Given the description of an element on the screen output the (x, y) to click on. 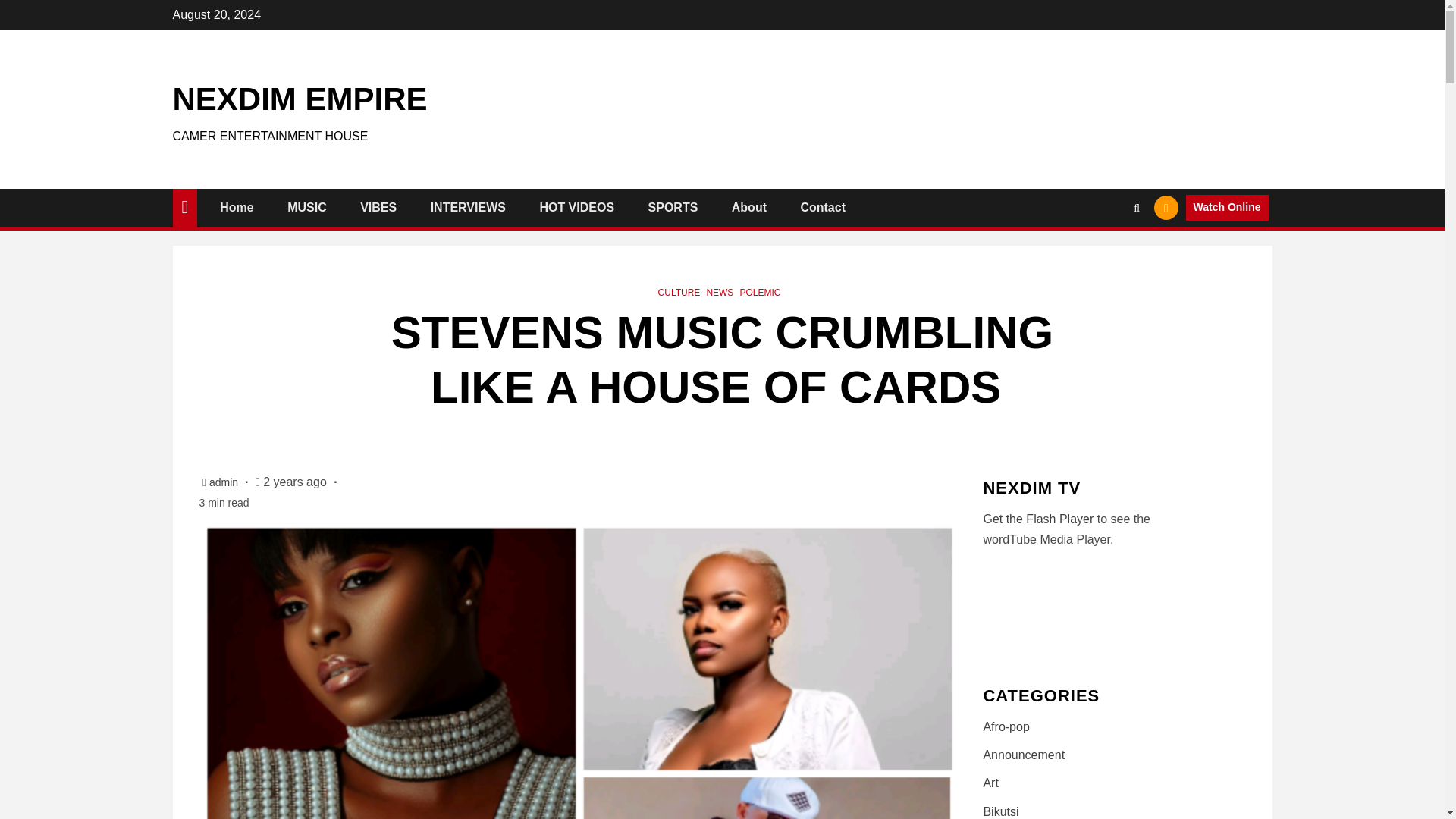
MUSIC (306, 206)
Contact (822, 206)
SPORTS (672, 206)
Home (236, 206)
CULTURE (679, 292)
Search (1106, 253)
POLEMIC (759, 292)
About (749, 206)
admin (225, 481)
Watch Online (1227, 207)
